Given the description of an element on the screen output the (x, y) to click on. 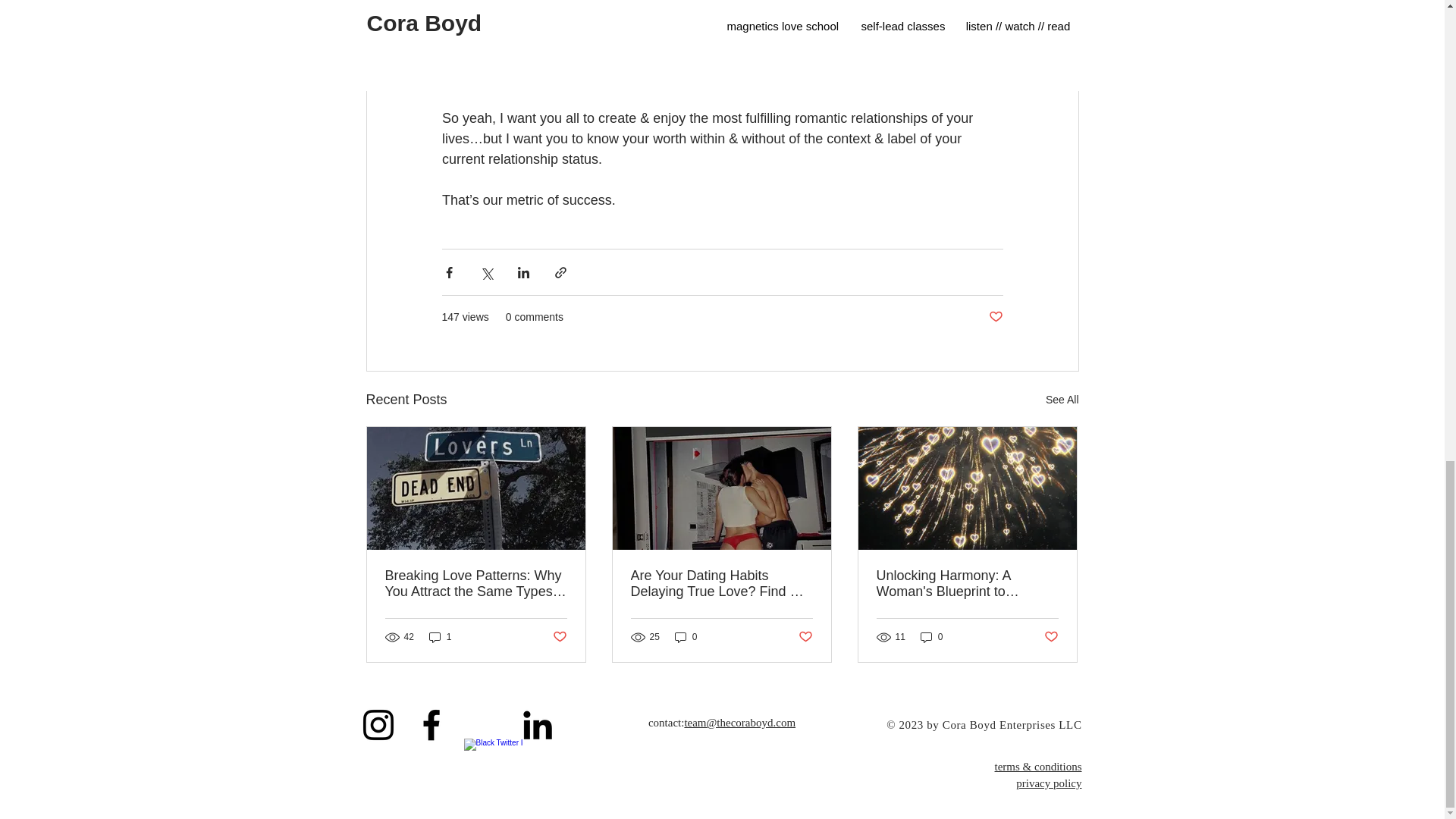
Post not marked as liked (804, 636)
0 (685, 636)
privacy policy (1048, 782)
See All (1061, 400)
0 (931, 636)
Post not marked as liked (1050, 636)
Post not marked as liked (558, 636)
1 (440, 636)
Are Your Dating Habits Delaying True Love? Find Out How (721, 583)
Post not marked as liked (995, 317)
